Given the description of an element on the screen output the (x, y) to click on. 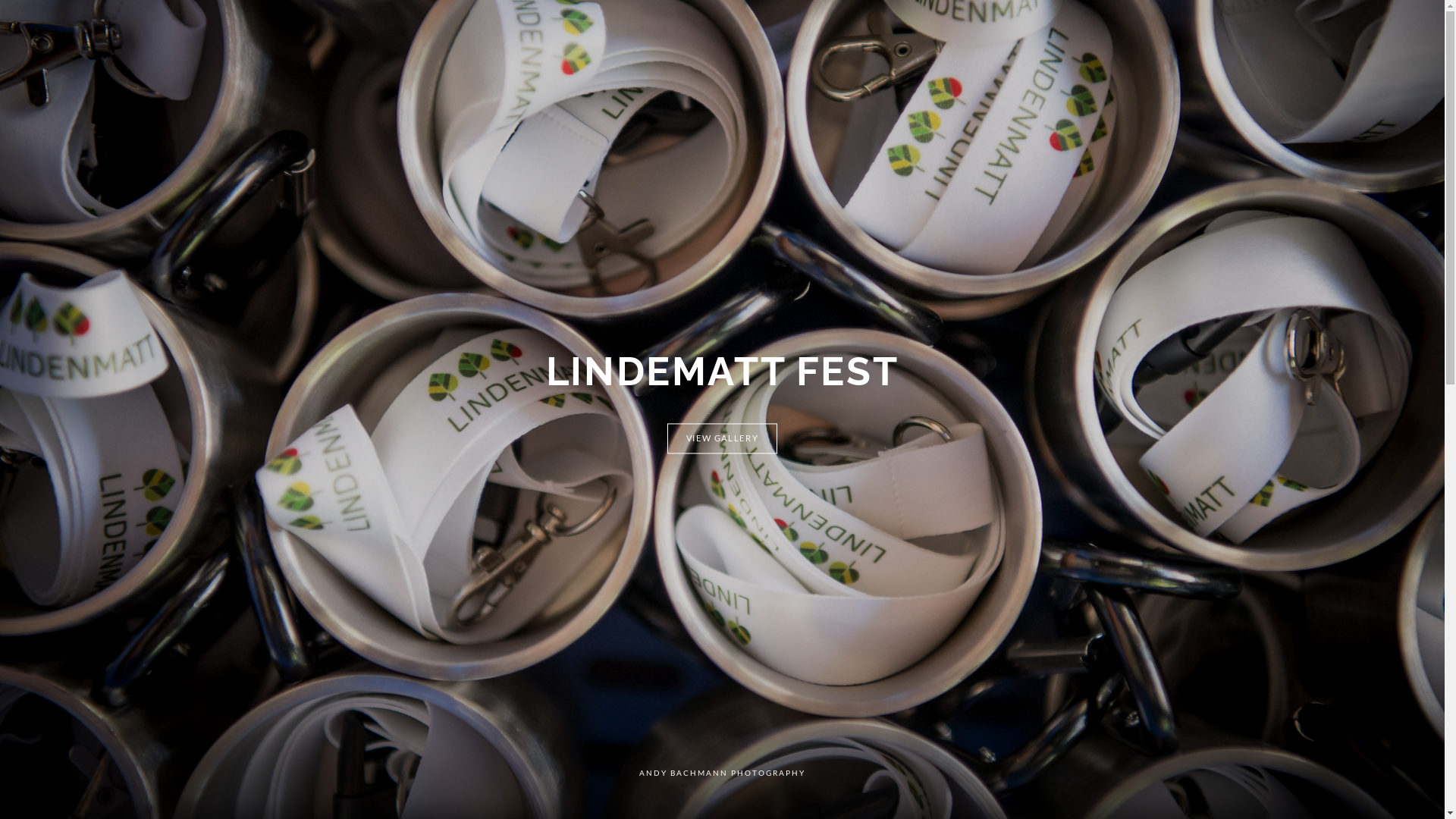
VIEW GALLERY Element type: text (722, 438)
ANDY BACHMANN PHOTOGRAPHY Element type: text (722, 772)
